Given the description of an element on the screen output the (x, y) to click on. 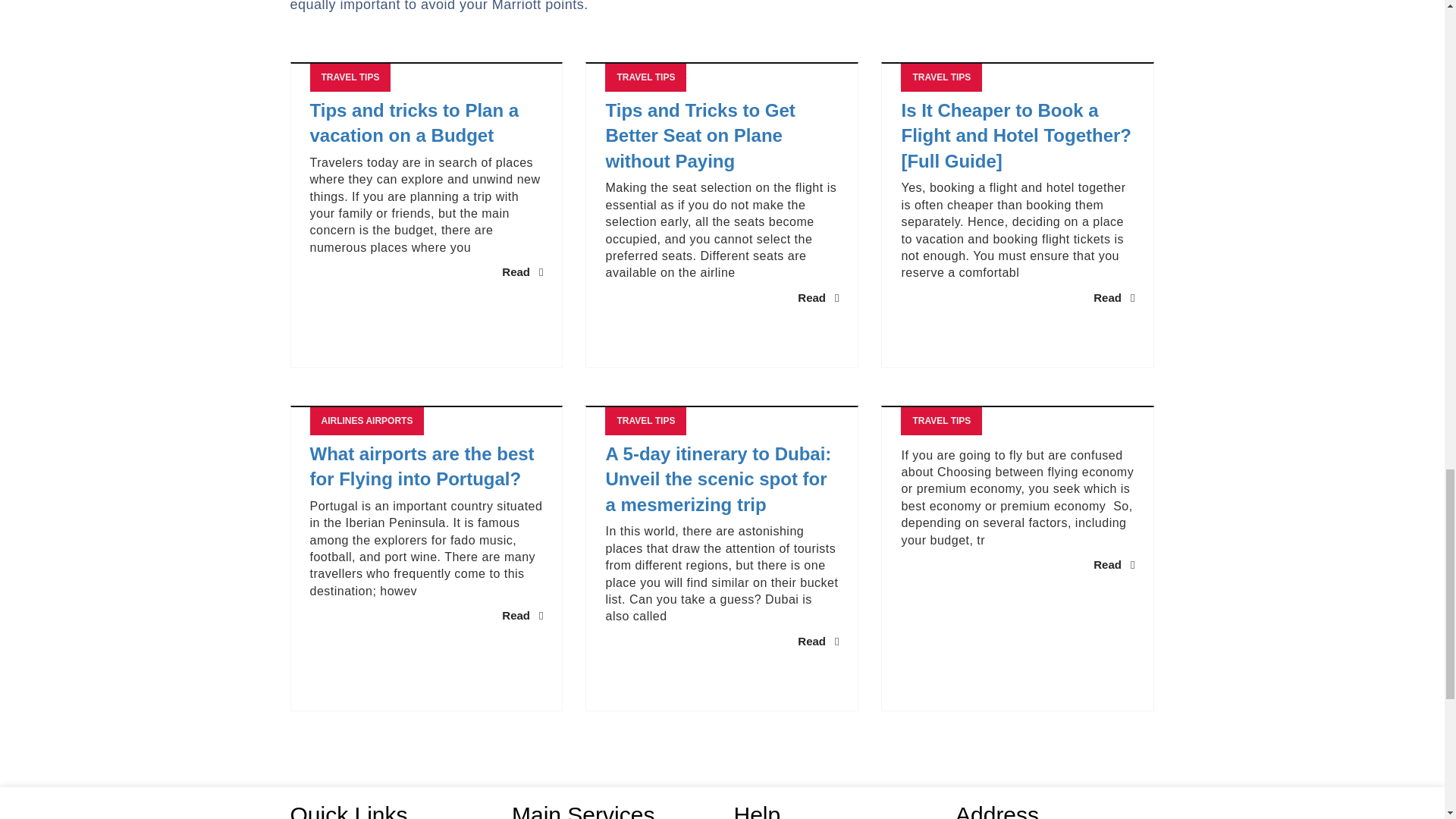
Read (522, 615)
Tips and Tricks to Get Better Seat on Plane without Paying (721, 135)
What airports are the best for Flying into Portugal? (425, 466)
Read (522, 271)
Read (1113, 297)
Read (817, 297)
Read (1113, 564)
Tips and tricks to Plan a vacation on a Budget (425, 122)
Read (817, 641)
